Given the description of an element on the screen output the (x, y) to click on. 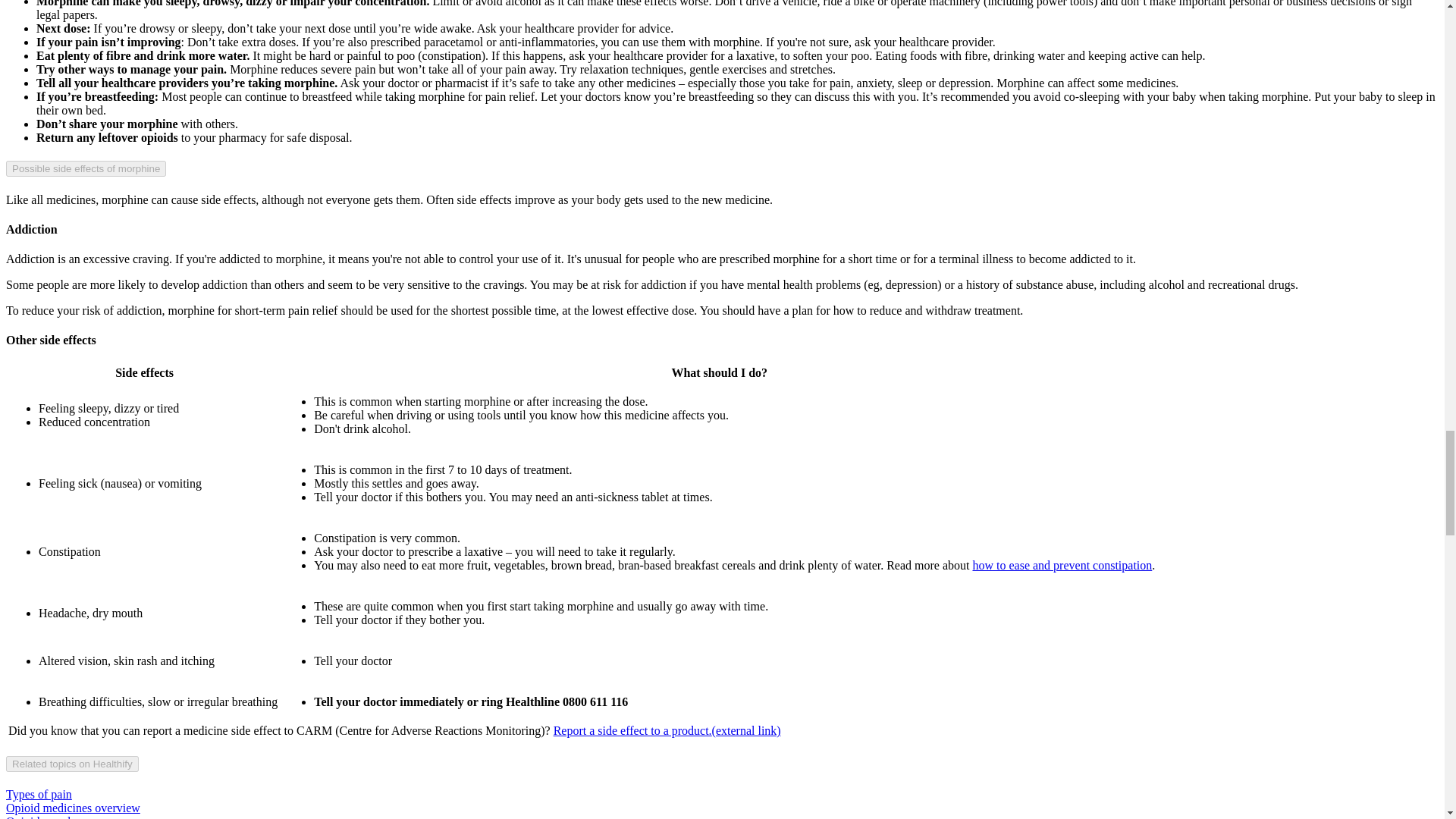
Open external link (666, 730)
Constipation (1061, 564)
